Given the description of an element on the screen output the (x, y) to click on. 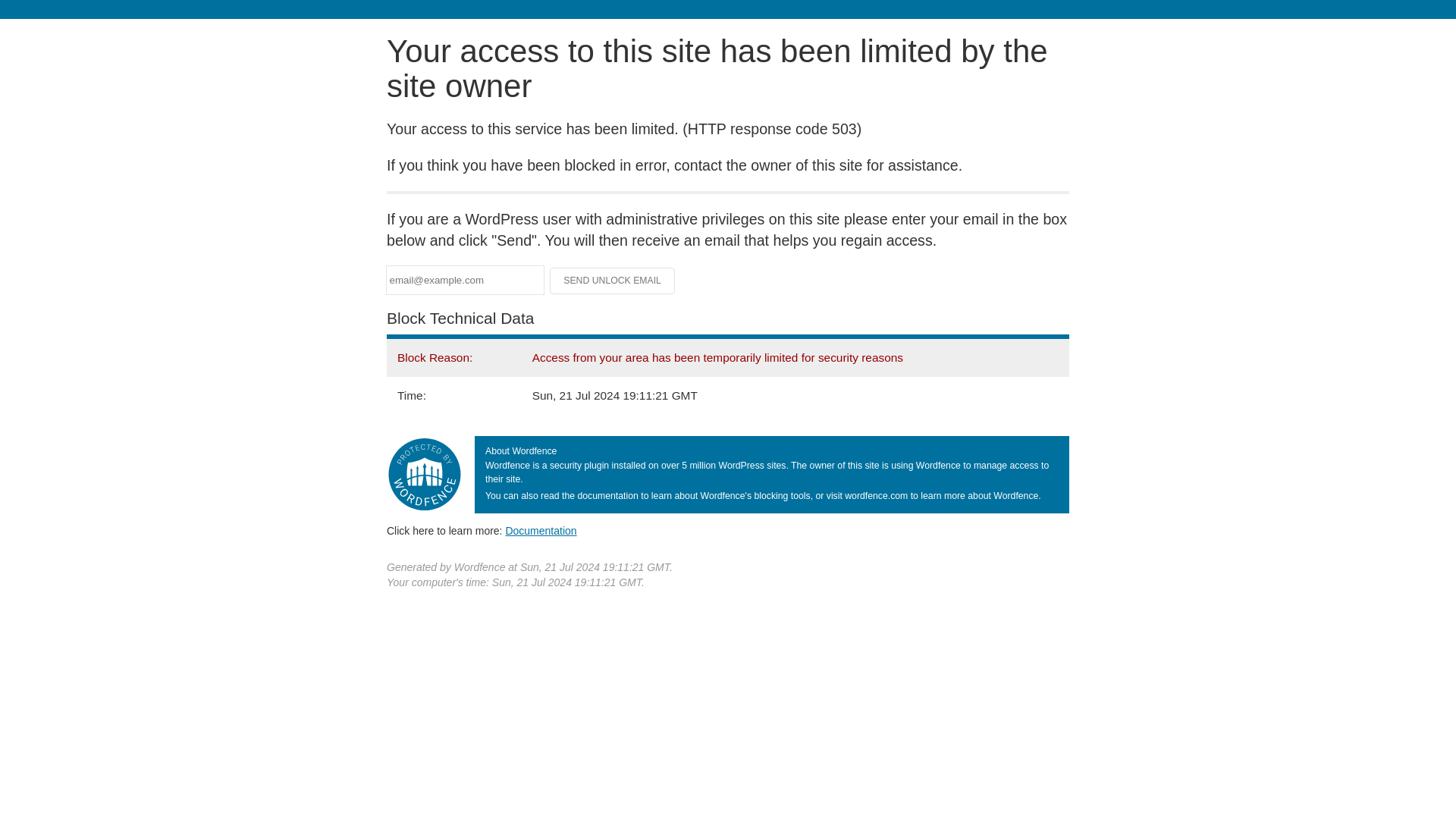
Send Unlock Email (612, 280)
Send Unlock Email (612, 280)
